Given the description of an element on the screen output the (x, y) to click on. 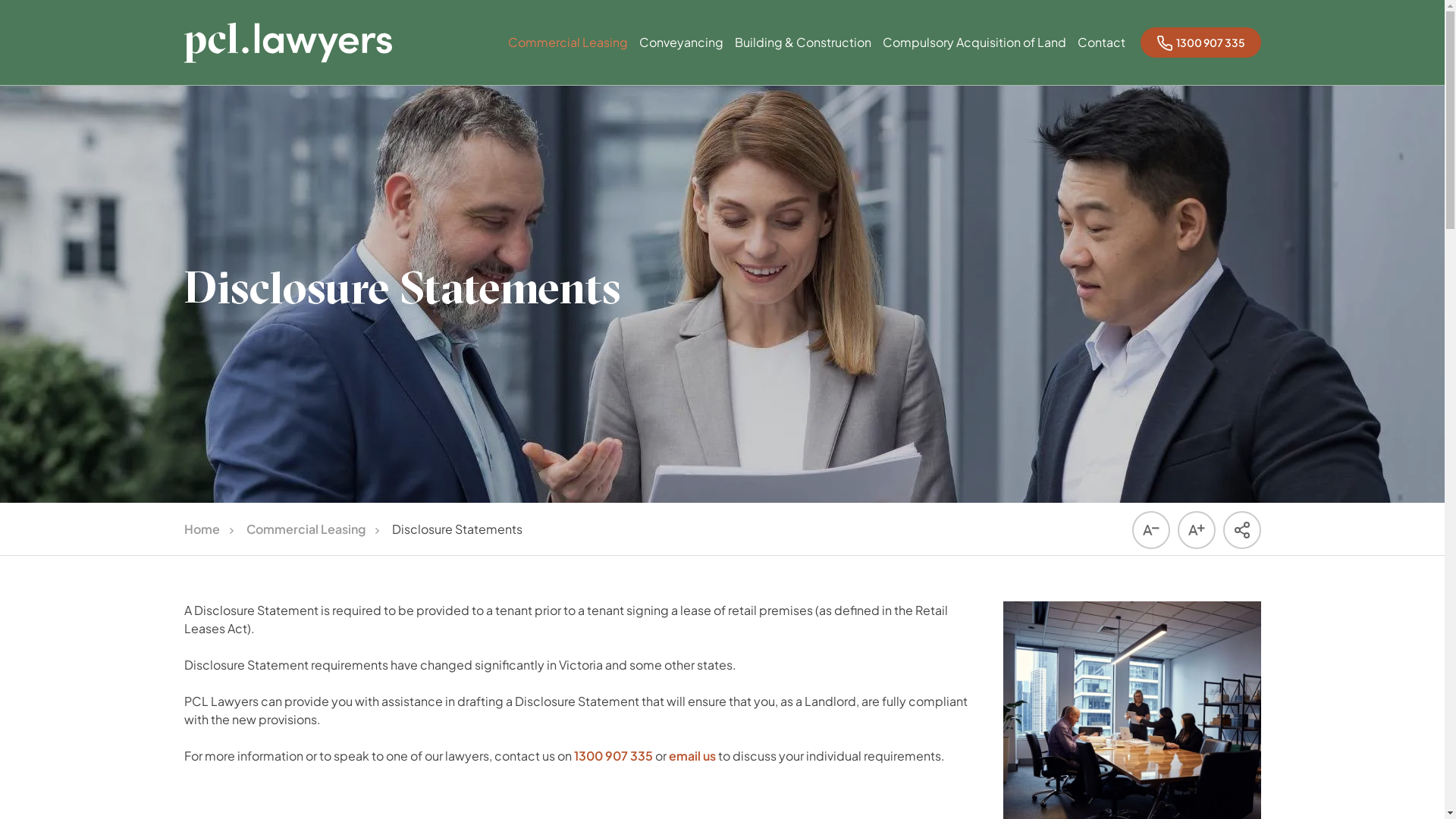
email us Element type: text (691, 755)
1300 907 335 Element type: text (612, 755)
Commercial Leasing Element type: text (567, 56)
Commercial Leasing Element type: text (304, 528)
Home Element type: text (201, 528)
PCL Lawyers Element type: hover (287, 42)
1300 907 335 Element type: text (1200, 42)
Conveyancing Element type: text (680, 56)
Compulsory Acquisition of Land Element type: text (974, 56)
Building & Construction Element type: text (802, 56)
Contact Element type: text (1100, 56)
